Given the description of an element on the screen output the (x, y) to click on. 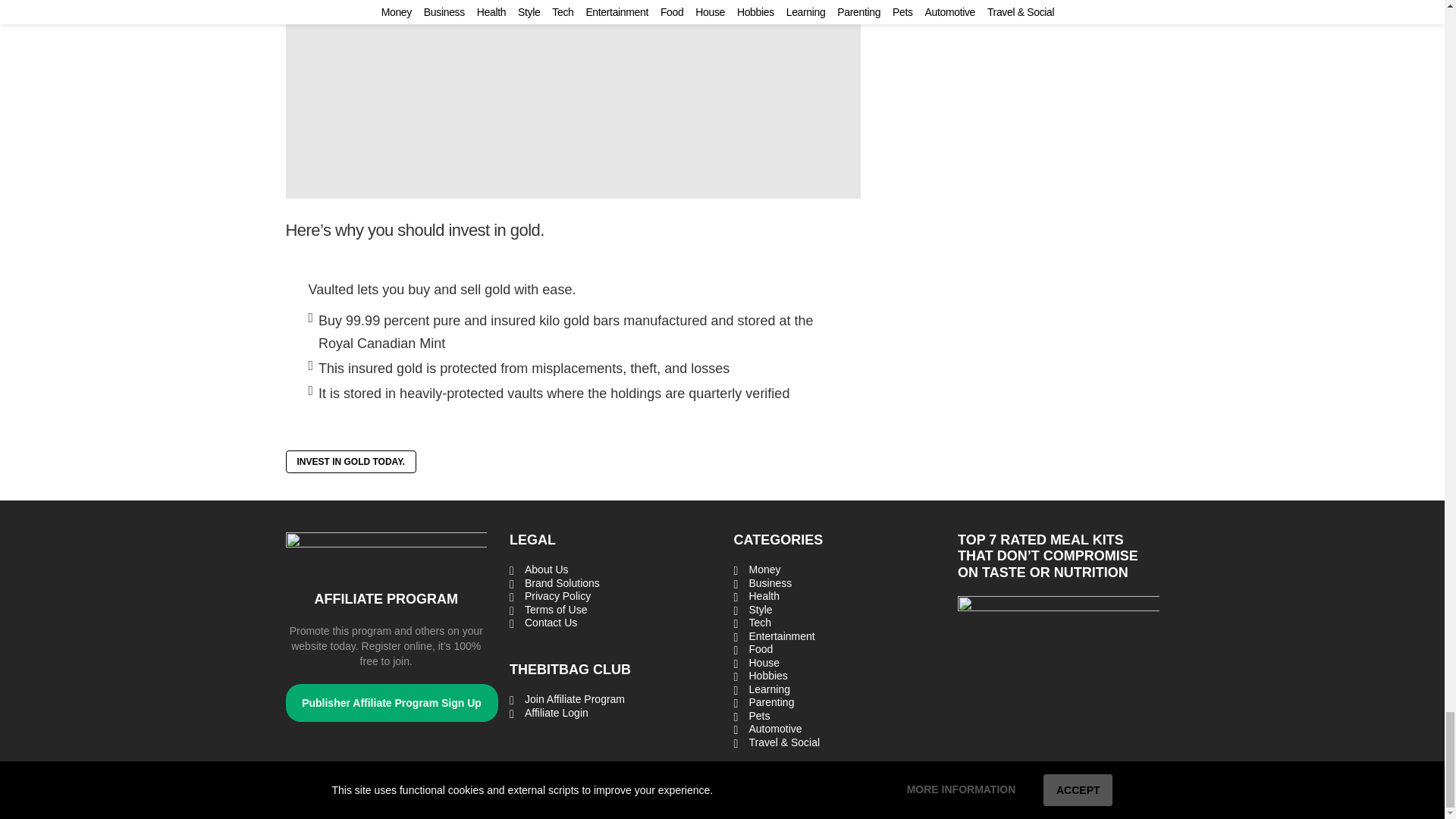
This investment asset surged during three major recessions (572, 99)
